Given the description of an element on the screen output the (x, y) to click on. 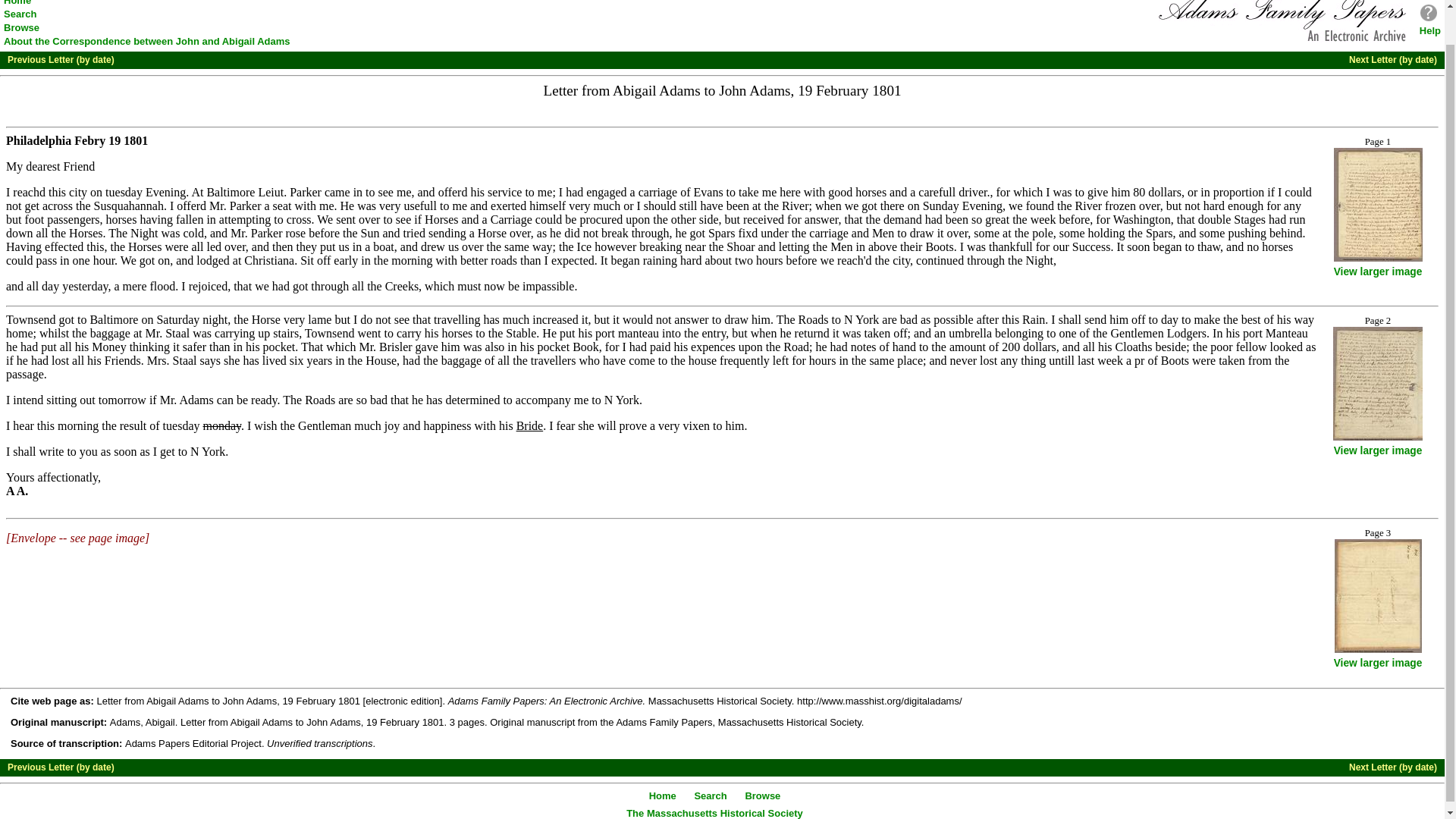
Shore (740, 246)
About the Correspondence between John and Abigail Adams (146, 41)
Browse (21, 27)
View larger image (1377, 663)
today (1162, 318)
expenses (712, 346)
1801-02-19 (111, 140)
View larger image (1377, 271)
careful (936, 192)
View larger image (1377, 450)
